Given the description of an element on the screen output the (x, y) to click on. 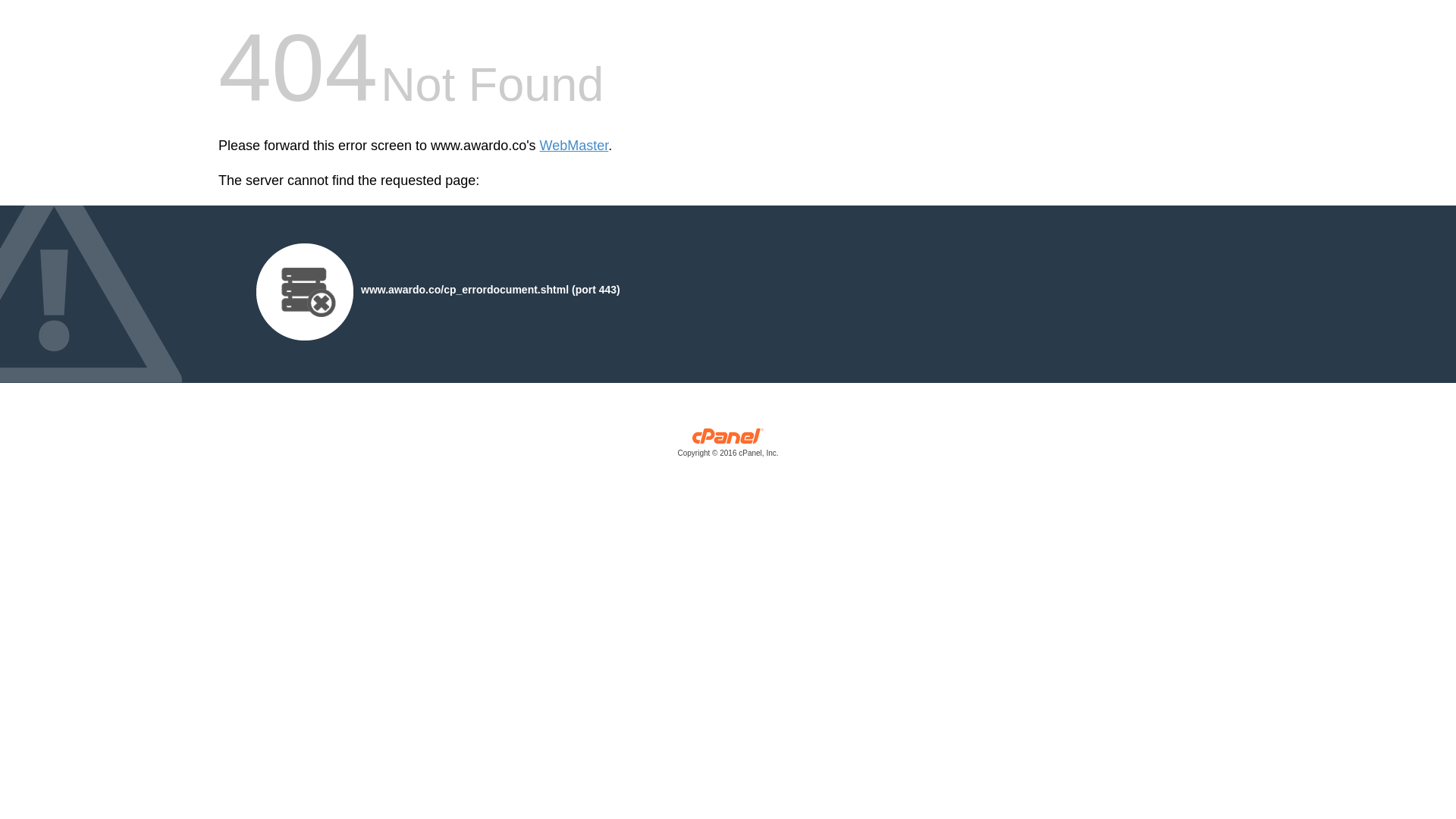
cPanel, Inc. (727, 446)
WebMaster (574, 145)
